Given the description of an element on the screen output the (x, y) to click on. 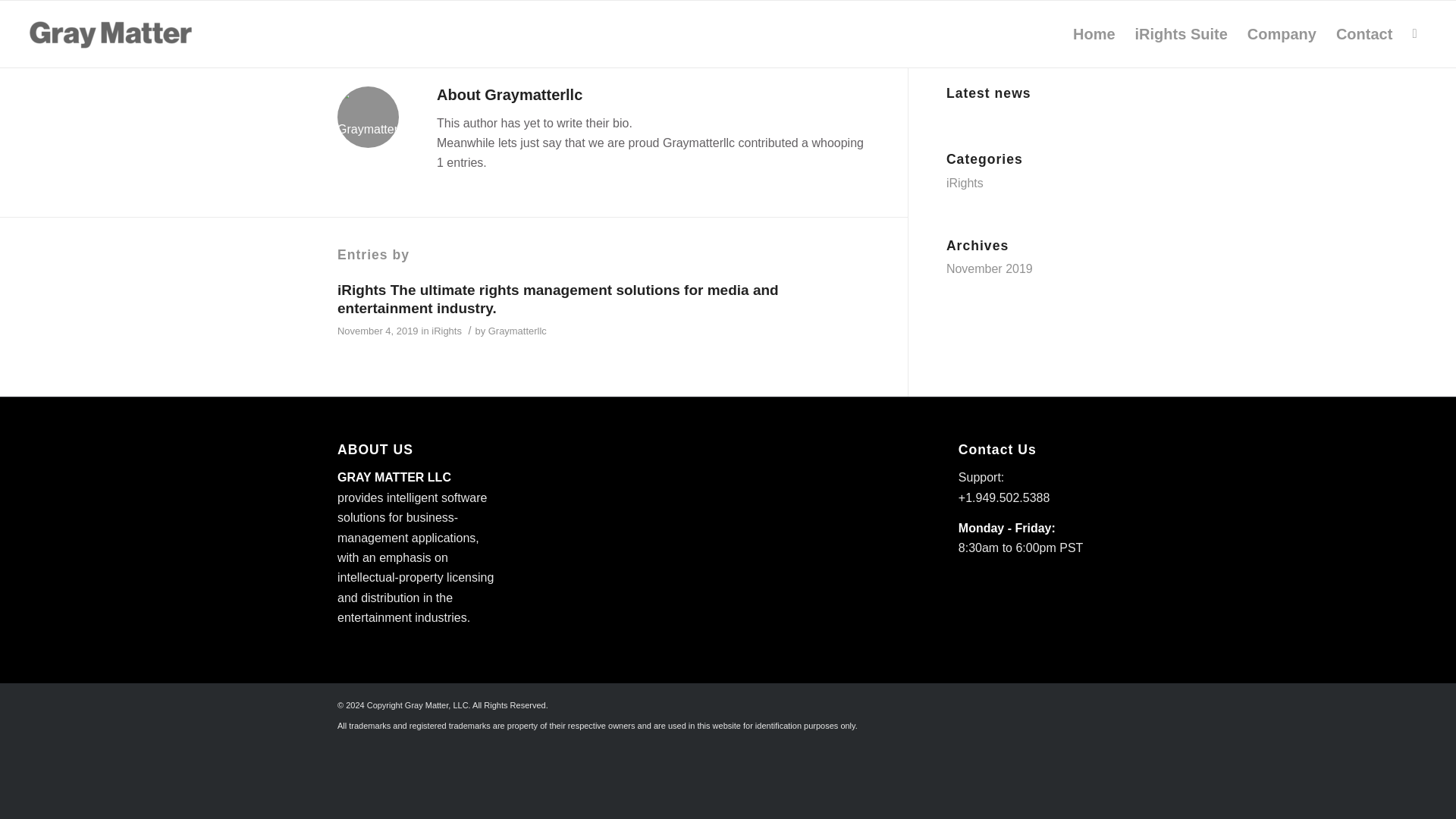
iRights (965, 182)
November 2019 (989, 268)
Contact (1364, 33)
iRights Suite (1181, 33)
Company (1281, 33)
iRights (445, 330)
Home (1093, 33)
Posts by Graymatterllc (517, 330)
Graymatterllc (517, 330)
